Given the description of an element on the screen output the (x, y) to click on. 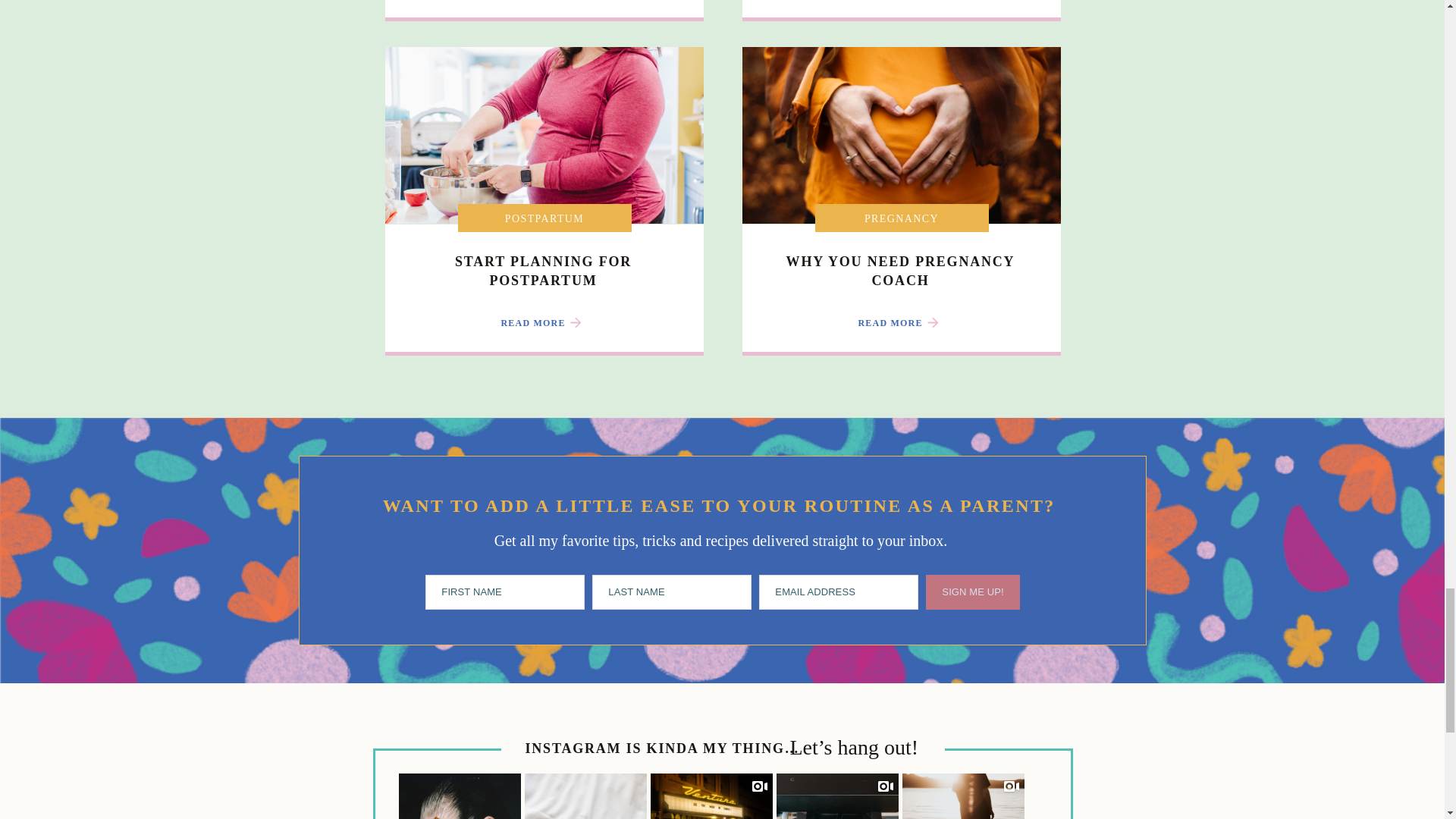
Start Planning for Postpartum (543, 322)
Why You Need Pregnancy Coach (901, 322)
